Given the description of an element on the screen output the (x, y) to click on. 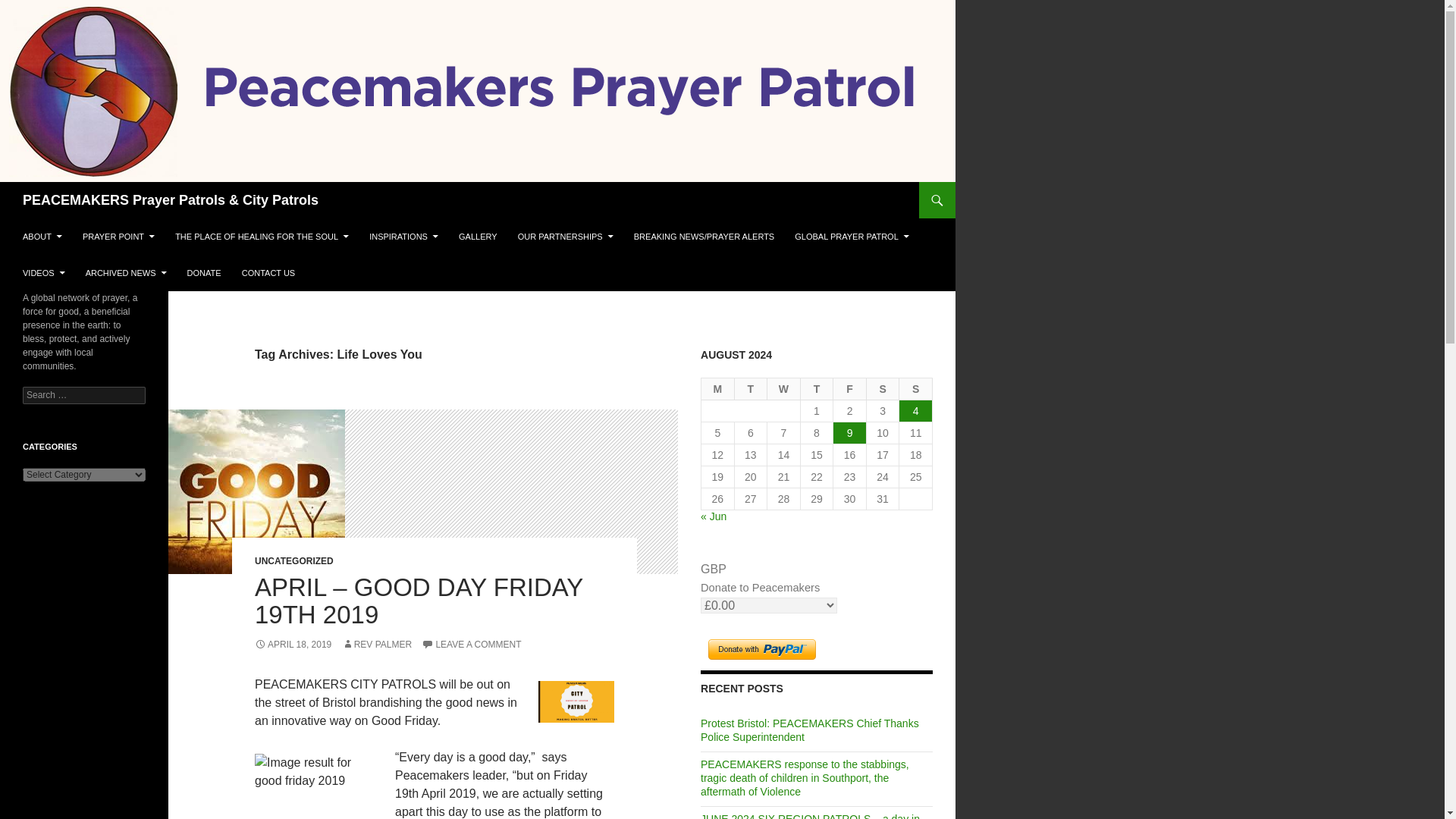
THE PLACE OF HEALING FOR THE SOUL (261, 236)
Saturday (882, 389)
PRAYER POINT (118, 236)
Thursday (817, 389)
Sunday (916, 389)
Wednesday (783, 389)
Tuesday (751, 389)
ABOUT (42, 236)
